Given the description of an element on the screen output the (x, y) to click on. 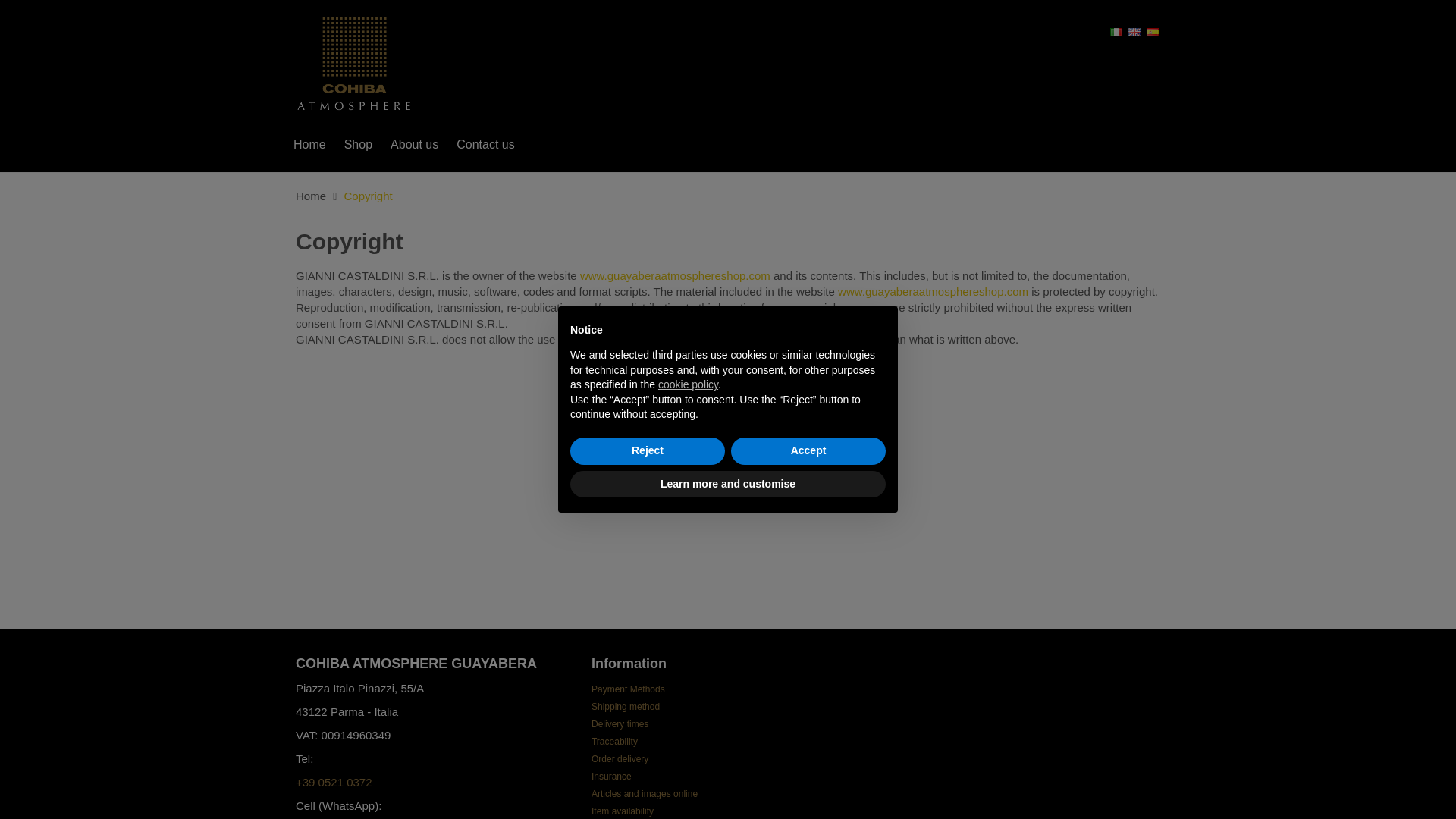
Payment Methods (628, 688)
Articles and images online (644, 793)
Order delivery (619, 758)
 Es (1152, 30)
Home (308, 144)
About us (413, 144)
Shop (357, 144)
Insurance (611, 776)
Shipping method (625, 706)
 It (1117, 30)
Home (310, 195)
Traceability (614, 741)
Payment Methods (628, 688)
Traceability (614, 741)
